Given the description of an element on the screen output the (x, y) to click on. 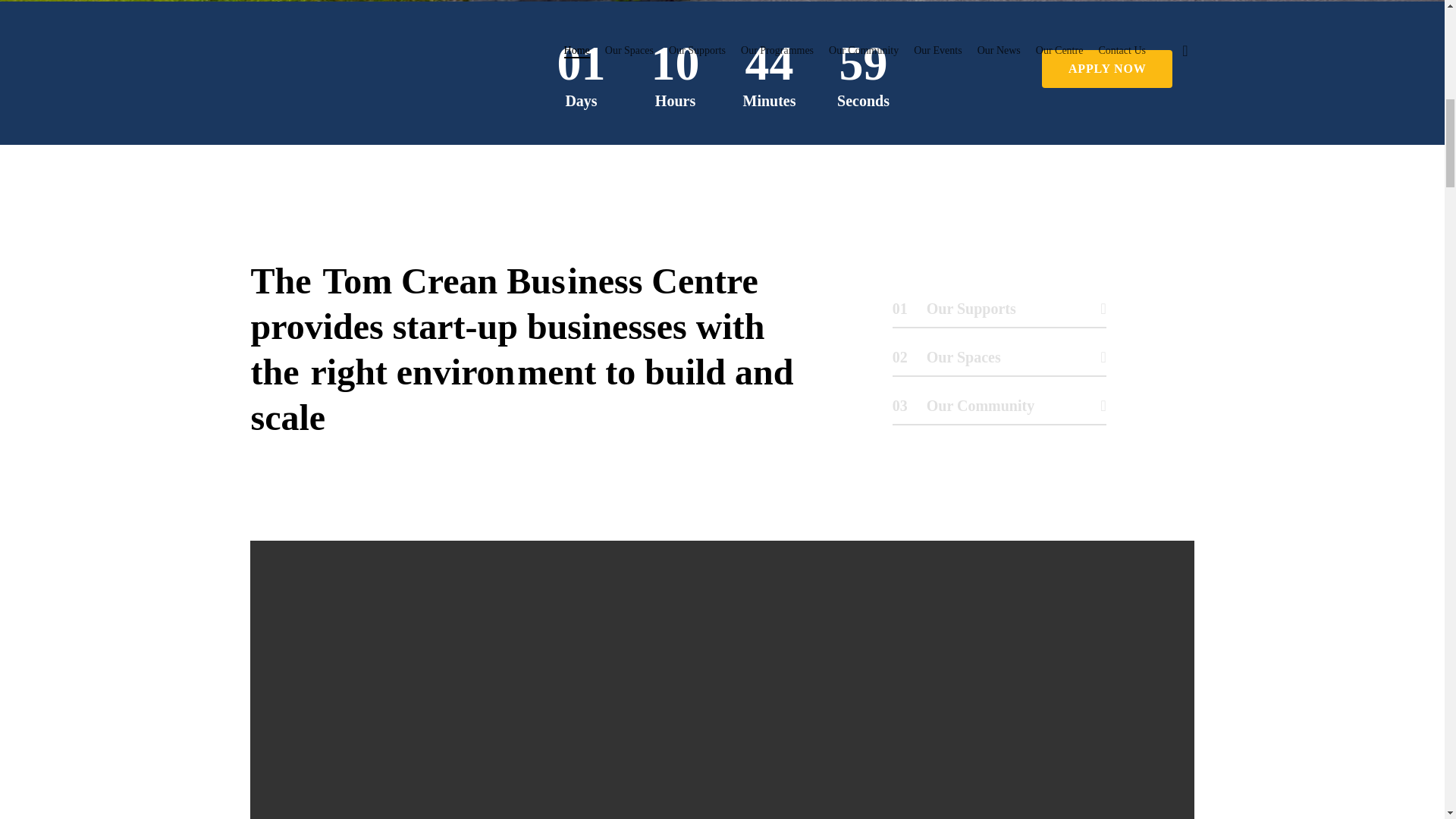
01     Our Supports (999, 313)
03     Our Community (999, 409)
02     Our Spaces (999, 361)
APPLY NOW (1107, 68)
